Given the description of an element on the screen output the (x, y) to click on. 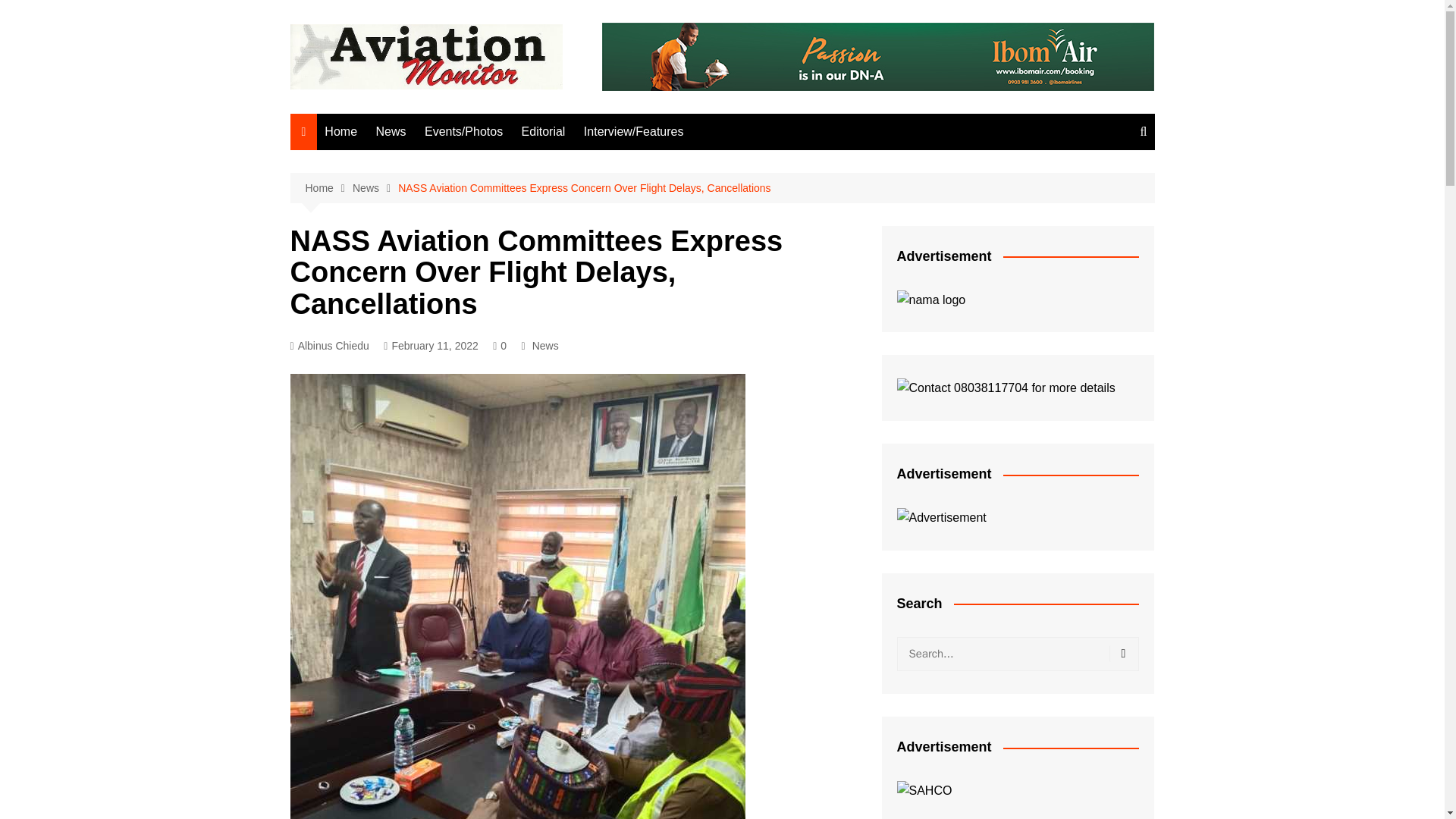
Albinus Chiedu (328, 345)
Advertisement (940, 517)
Home (341, 131)
News (545, 345)
February 11, 2022 (431, 345)
Editorial (543, 131)
Advertisement (924, 790)
News (374, 188)
News (390, 131)
